Given the description of an element on the screen output the (x, y) to click on. 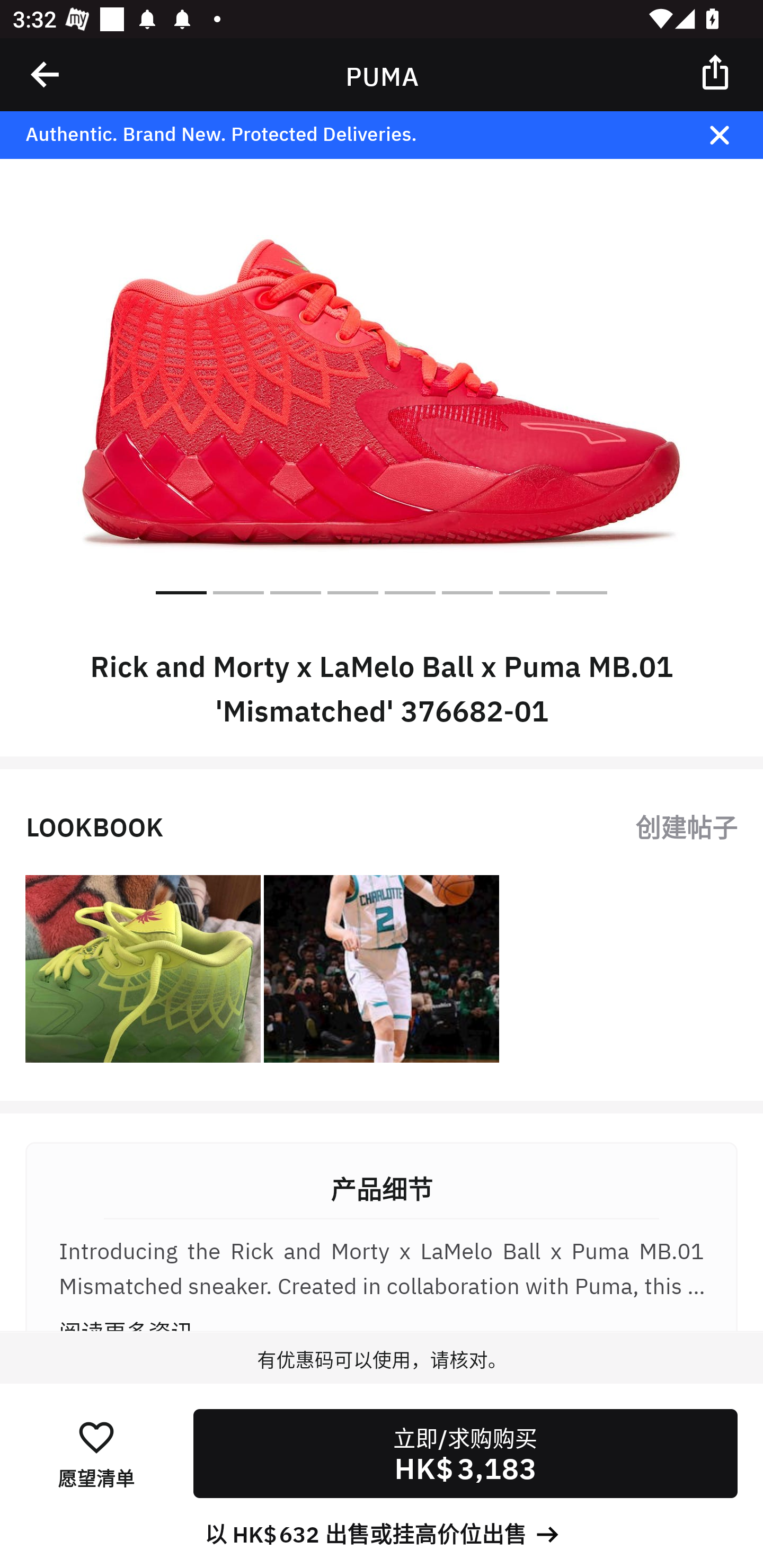
 (46, 74)
 (716, 70)
Authentic. Brand New. Protected Deliveries. (350, 134)
 (732, 134)
创建帖子 (685, 825)
有优惠码可以使用，请核对。 (381, 1377)
立即/求购购买 HK$ 3,183 (465, 1453)
󰋕 (95, 1435)
以 HK$ 632 出售或挂高价位出售 (381, 1532)
